Given the description of an element on the screen output the (x, y) to click on. 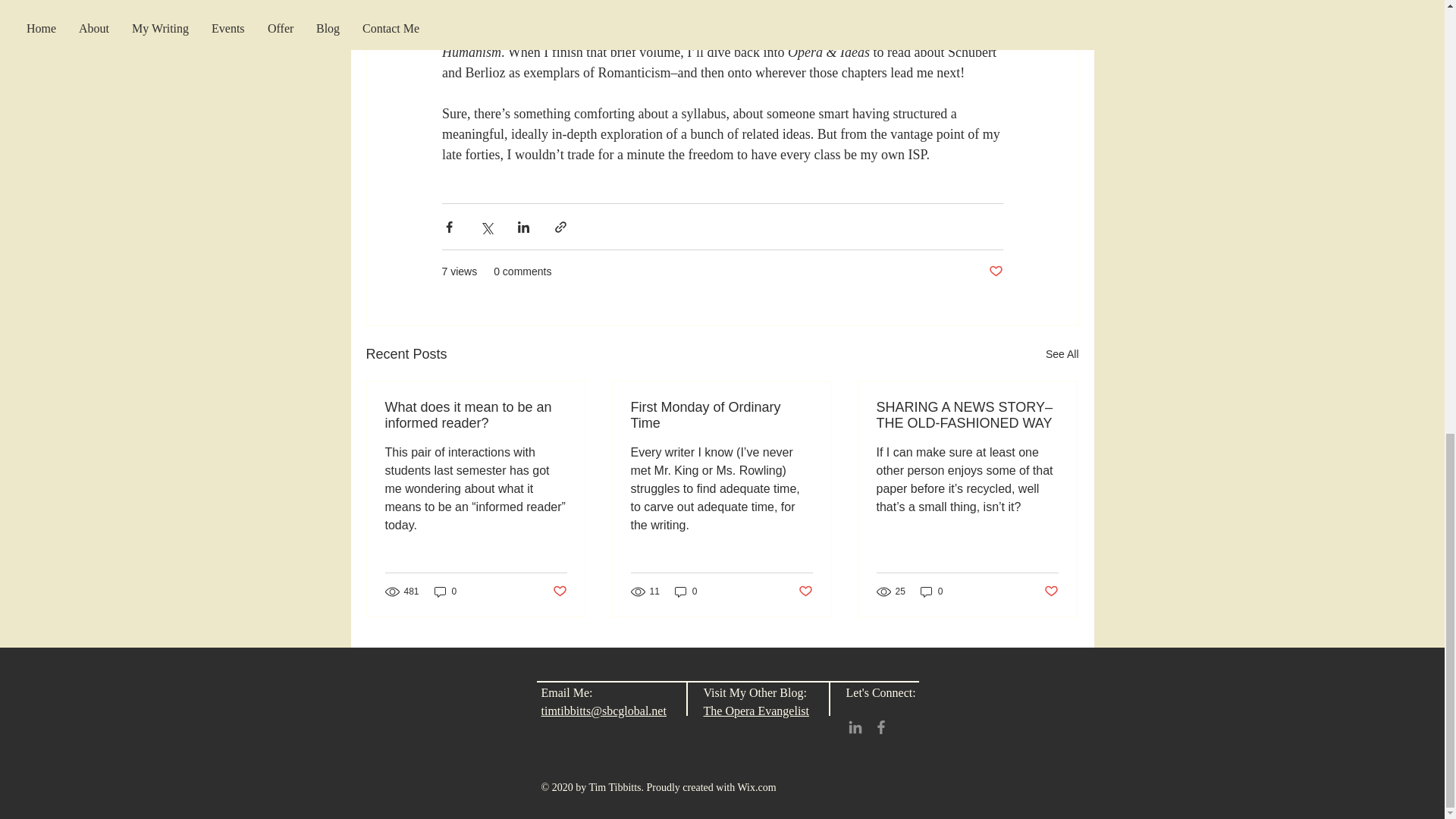
0 (931, 591)
See All (1061, 354)
The Opera Evangelist (756, 710)
0 (685, 591)
Wix.com (756, 787)
Post not marked as liked (804, 590)
0 (445, 591)
What does it mean to be an informed reader? (476, 415)
Post not marked as liked (558, 590)
First Monday of Ordinary Time (721, 415)
Post not marked as liked (1050, 590)
Post not marked as liked (995, 271)
